Given the description of an element on the screen output the (x, y) to click on. 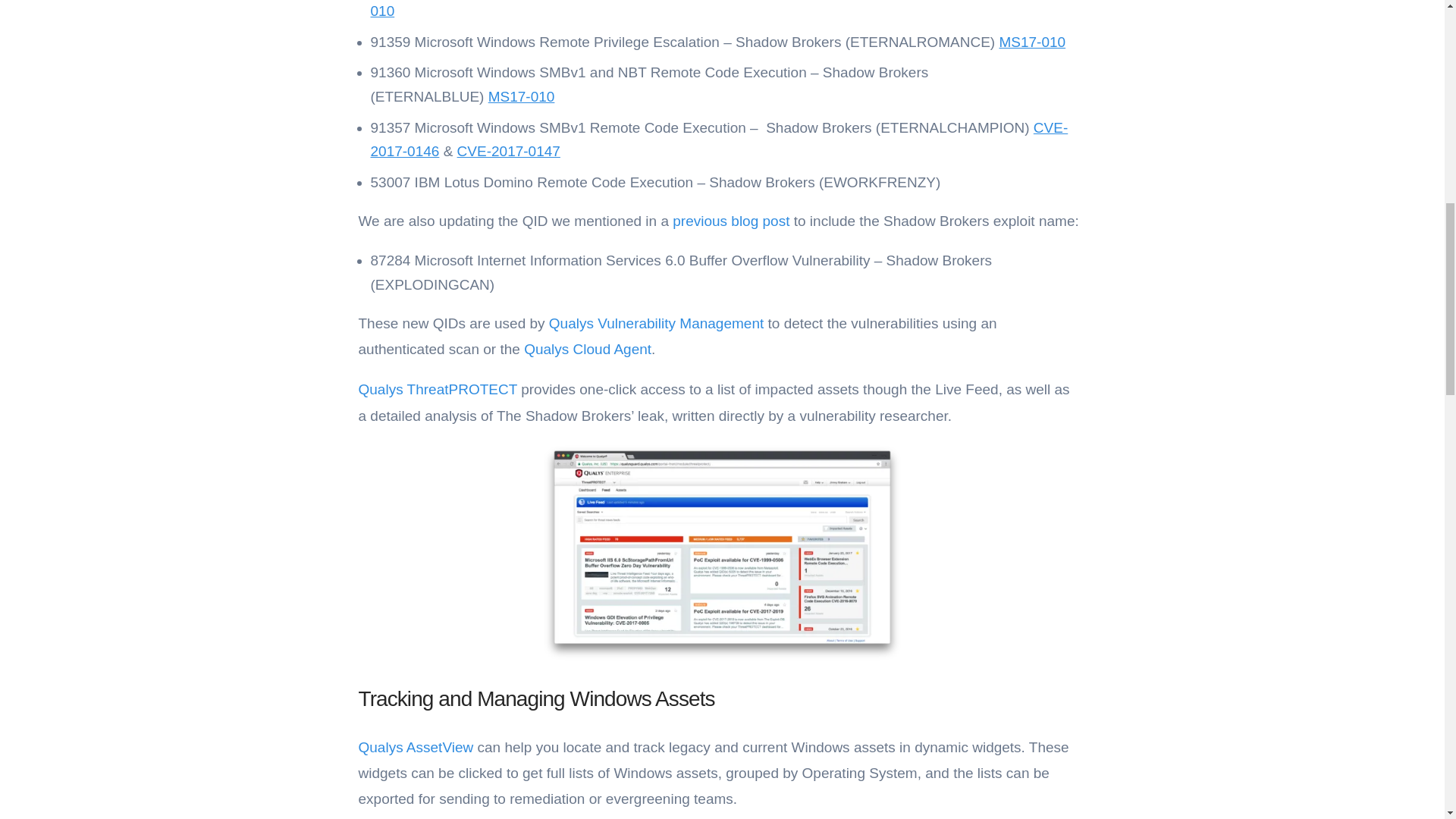
Qualys Cloud Agent (587, 349)
MS17-010 (1031, 41)
Qualys ThreatPROTECT (437, 389)
MS17-010 (716, 9)
Qualys AssetView (415, 747)
CVE-2017-0147 (508, 150)
previous blog post (730, 220)
Qualys Vulnerability Management (655, 323)
CVE-2017-0146 (718, 138)
MS17-010 (520, 96)
